Given the description of an element on the screen output the (x, y) to click on. 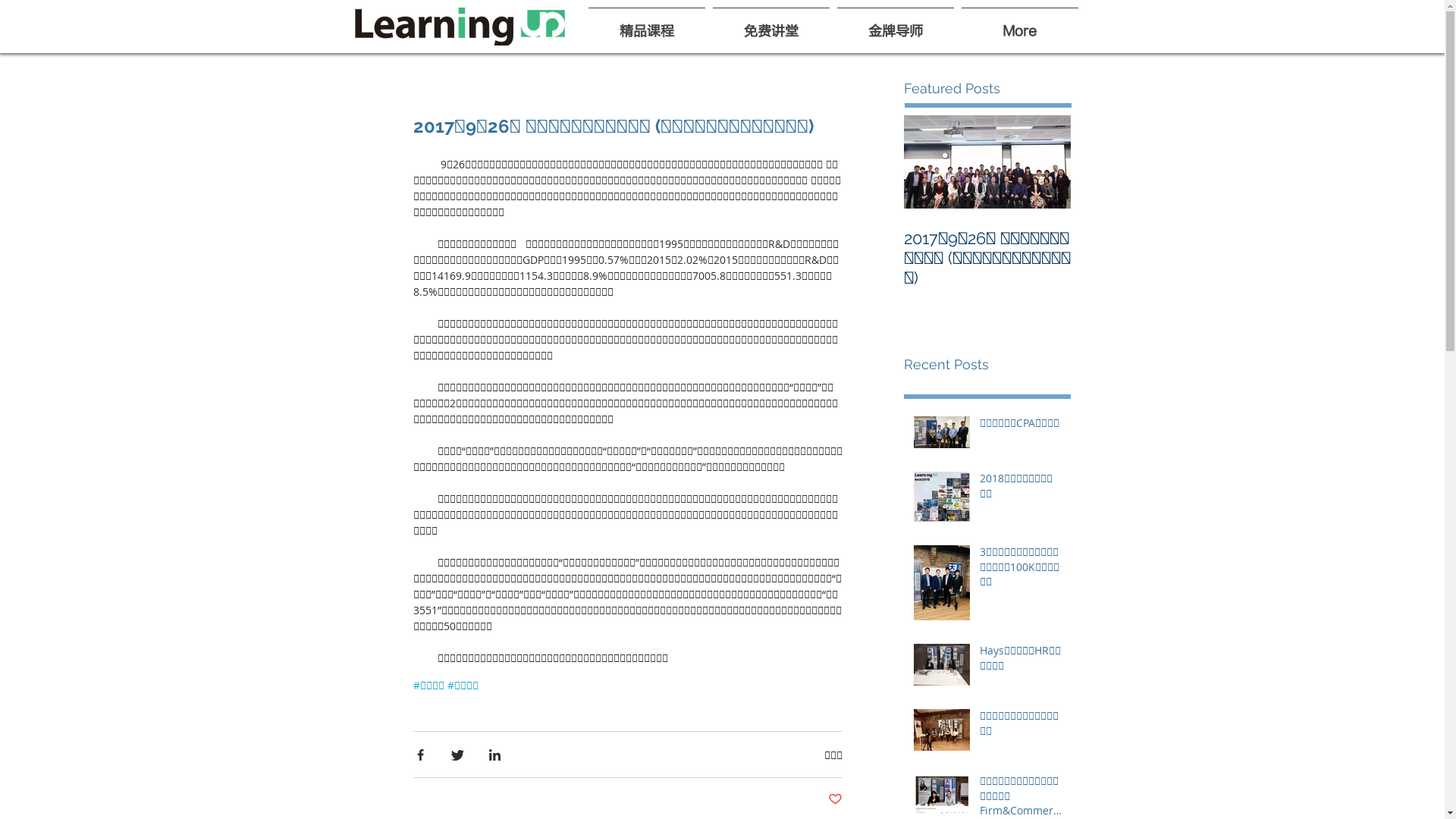
Post not marked as liked Element type: text (835, 799)
